Given the description of an element on the screen output the (x, y) to click on. 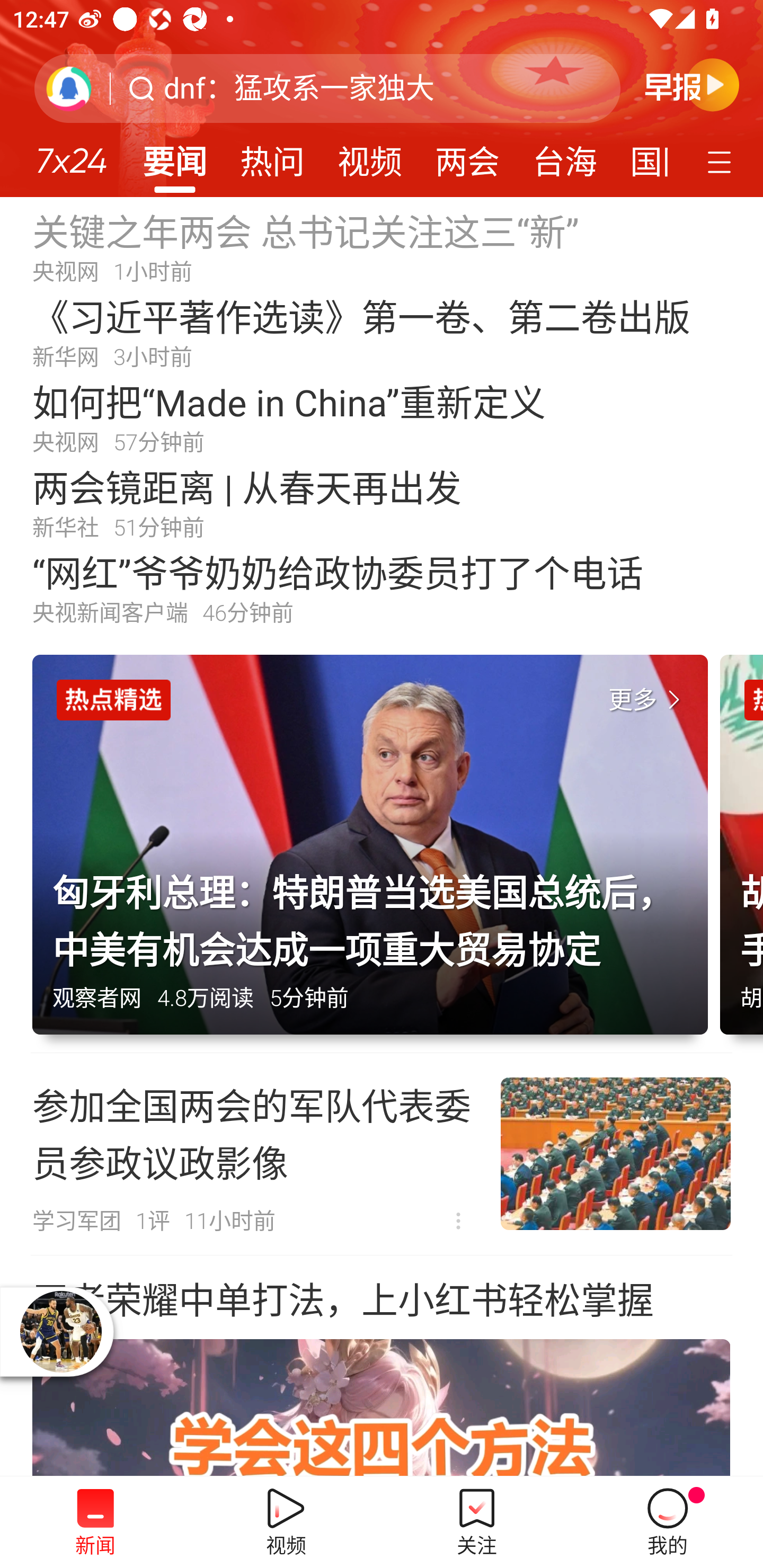
早晚报 (691, 84)
刷新 (68, 88)
dnf：猛攻系一家独大 (299, 88)
7x24 (70, 154)
要闻 (174, 155)
热问 (272, 155)
视频 (369, 155)
两会 (466, 155)
台海 (564, 155)
 定制频道 (721, 160)
关键之年两会 总书记关注这三“新” 央视网 1小时前 (381, 245)
《习近平著作选读》第一卷、第二卷出版 新华网 3小时前 (381, 331)
如何把“Made in China”重新定义 央视网 57分钟前 (381, 416)
两会镜距离 | 从春天再出发 新华社 51分钟前 (381, 502)
“网红”爷爷奶奶给政协委员打了个电话 央视新闻客户端 46分钟前 (381, 587)
更多  (648, 699)
参加全国两会的军队代表委员参政议政影像 学习军团 1评 11小时前  不感兴趣 (381, 1153)
 不感兴趣 (458, 1221)
播放器 (60, 1331)
